Given the description of an element on the screen output the (x, y) to click on. 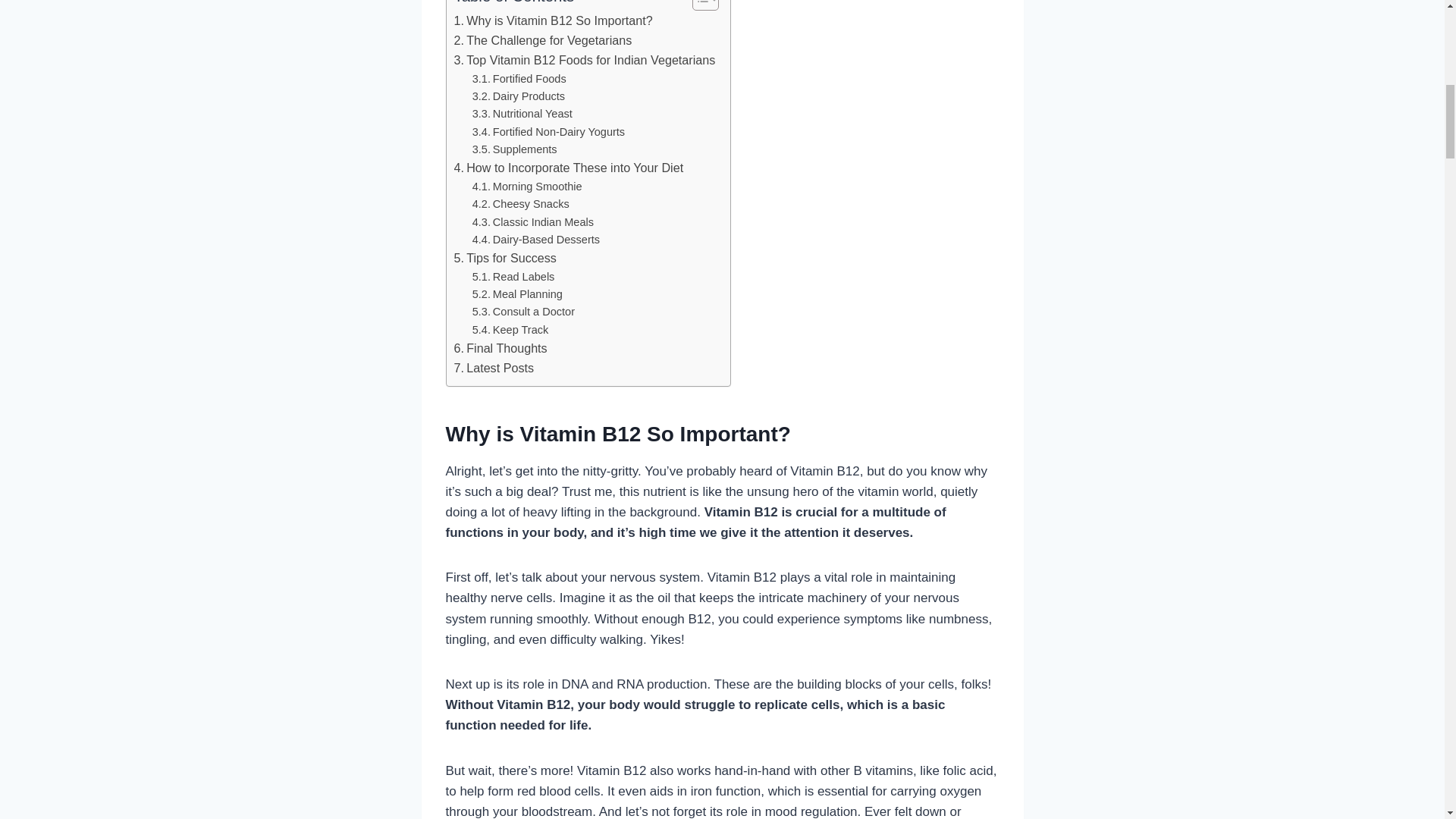
The Challenge for Vegetarians (541, 40)
Supplements (514, 149)
Fortified Foods (518, 78)
Dairy Products (517, 96)
Fortified Non-Dairy Yogurts (547, 131)
Top Vitamin B12 Foods for Indian Vegetarians (583, 60)
Nutritional Yeast (521, 113)
Why is Vitamin B12 So Important? (552, 21)
